Given the description of an element on the screen output the (x, y) to click on. 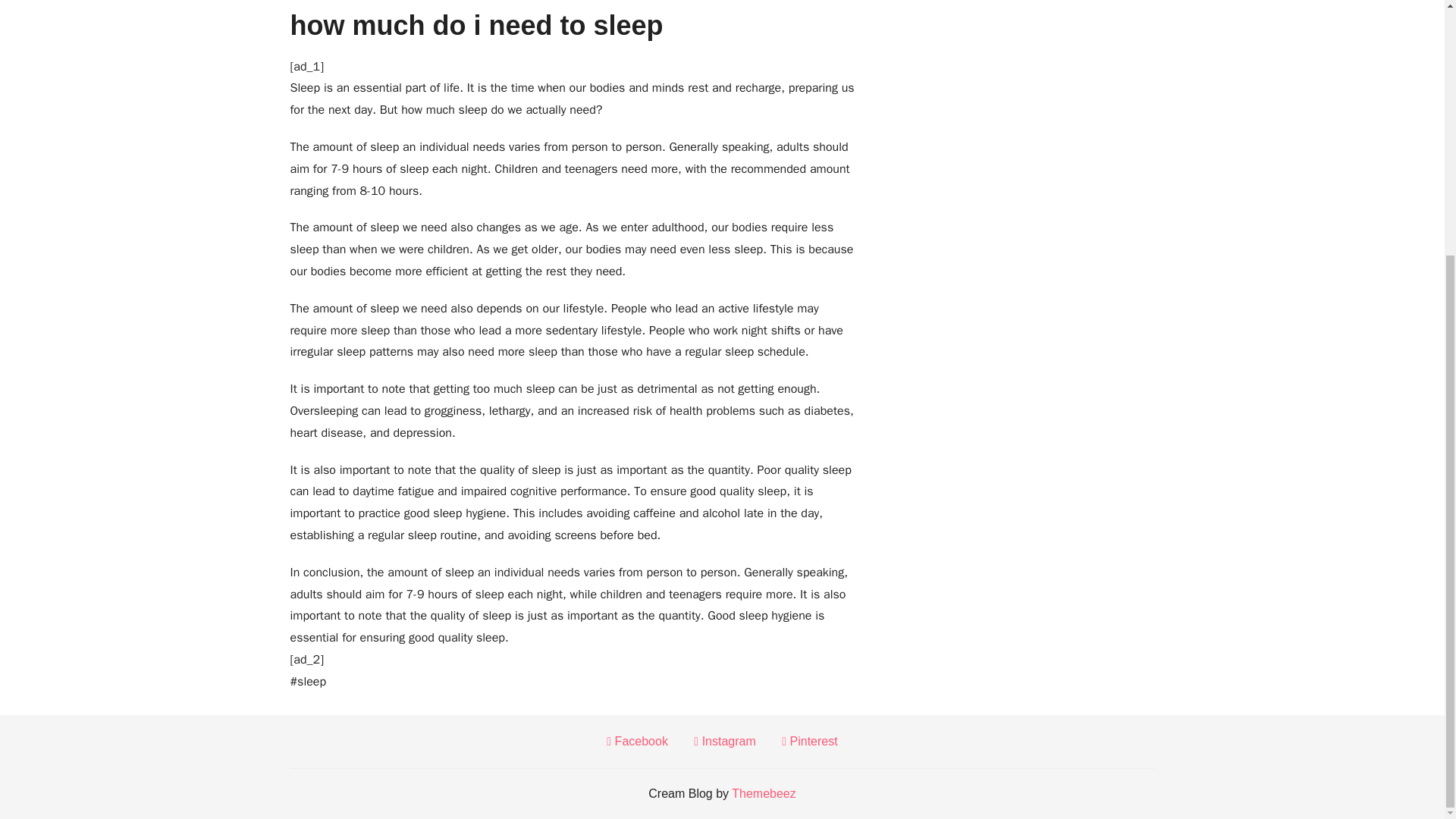
Pinterest (809, 741)
Make Up (682, 10)
Instagram (724, 741)
Facebook (637, 741)
Themebeez (764, 793)
